Given the description of an element on the screen output the (x, y) to click on. 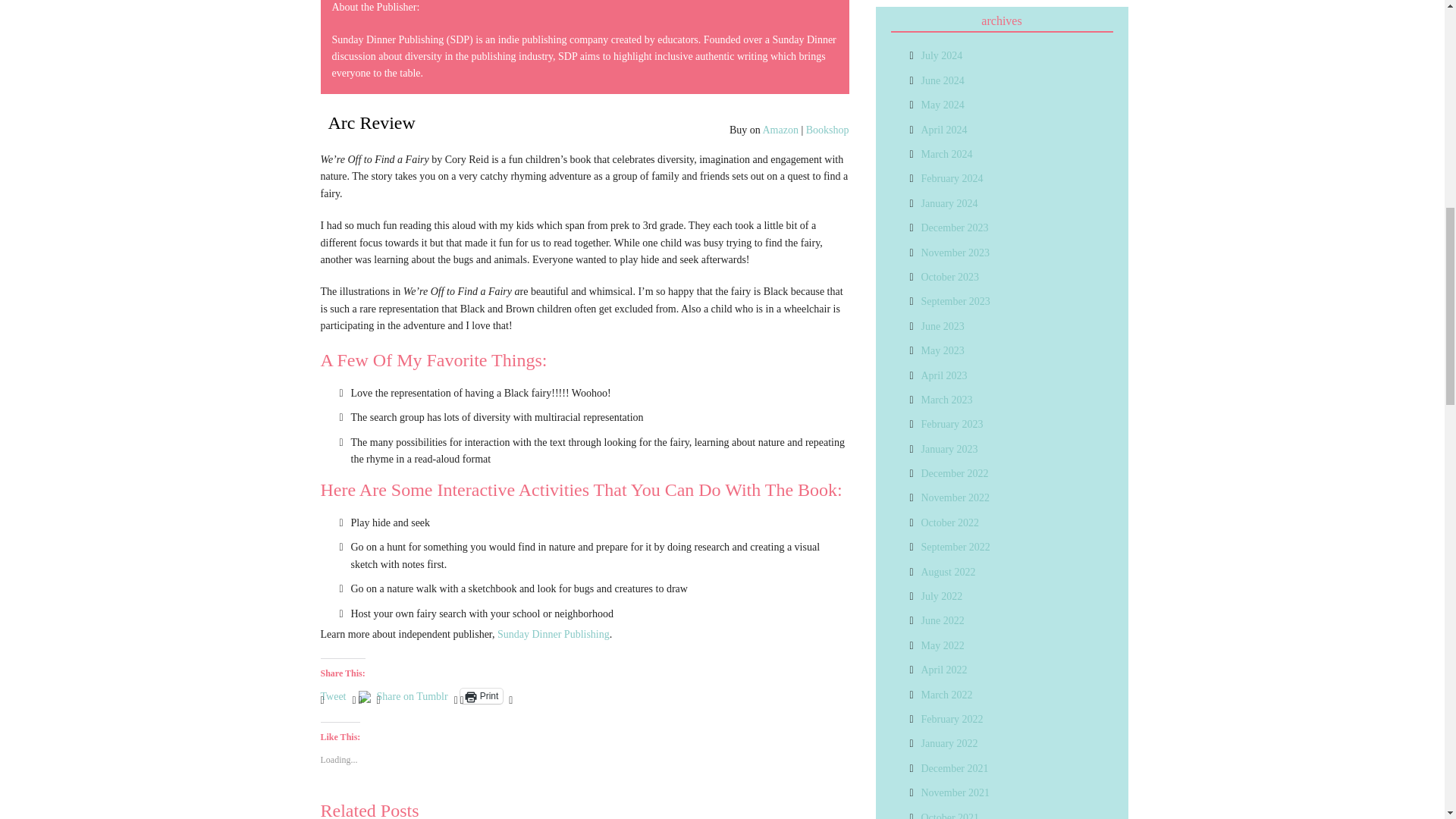
Click to print (481, 695)
Share on Tumblr (412, 694)
